Given the description of an element on the screen output the (x, y) to click on. 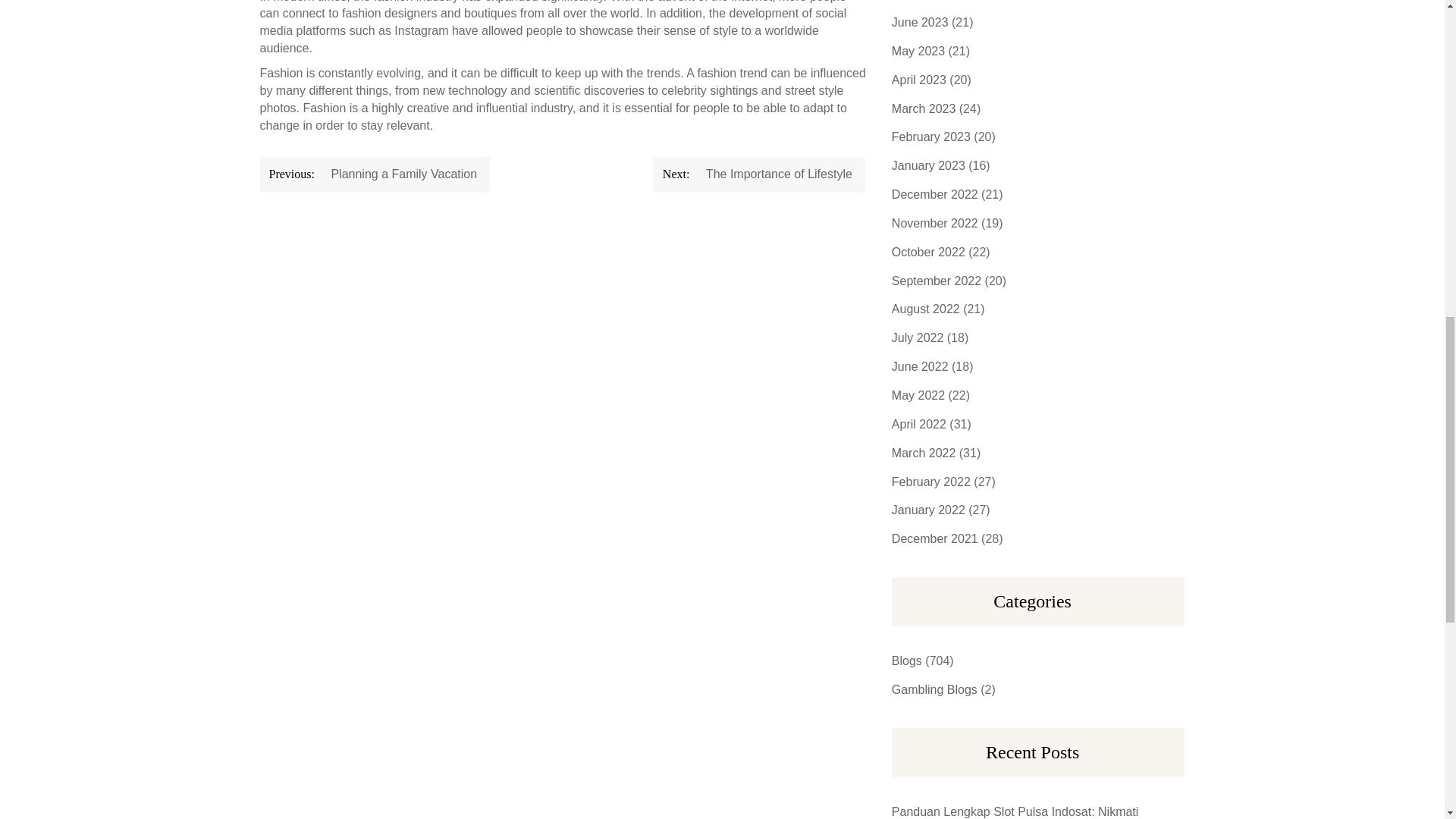
March 2023 (923, 108)
January 2023 (928, 164)
Next: The Importance of Lifestyle (758, 174)
December 2022 (934, 194)
May 2023 (917, 51)
Previous: Planning a Family Vacation (374, 174)
November 2022 (934, 223)
June 2023 (920, 21)
October 2022 (928, 251)
February 2023 (931, 136)
